Given the description of an element on the screen output the (x, y) to click on. 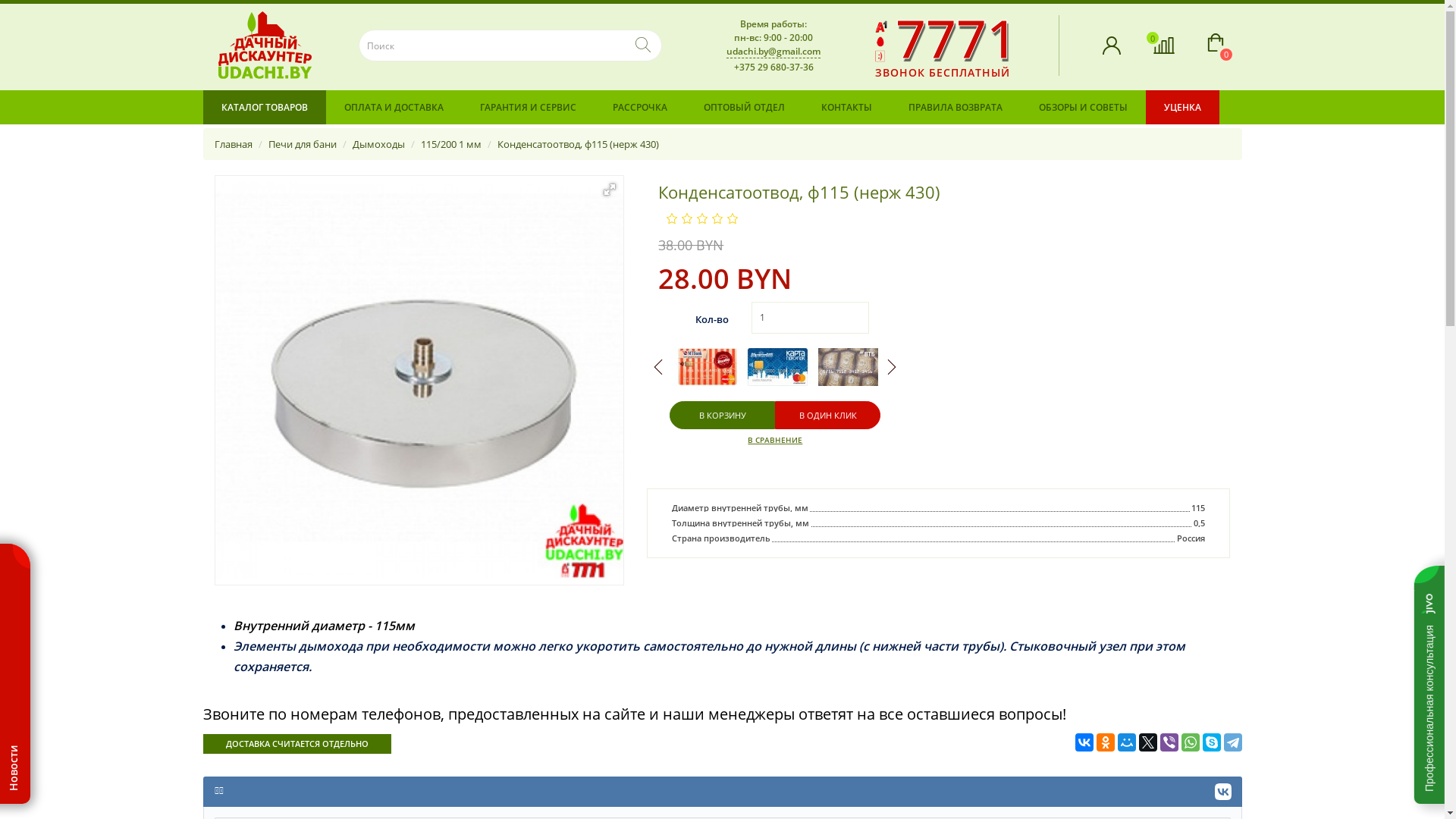
Skype Element type: hover (1211, 742)
Telegram Element type: hover (1232, 742)
udachi.by@gmail.com Element type: text (773, 50)
Twitter Element type: hover (1148, 742)
7771 Element type: text (955, 37)
Viber Element type: hover (1169, 742)
WhatsApp Element type: hover (1190, 742)
